Given the description of an element on the screen output the (x, y) to click on. 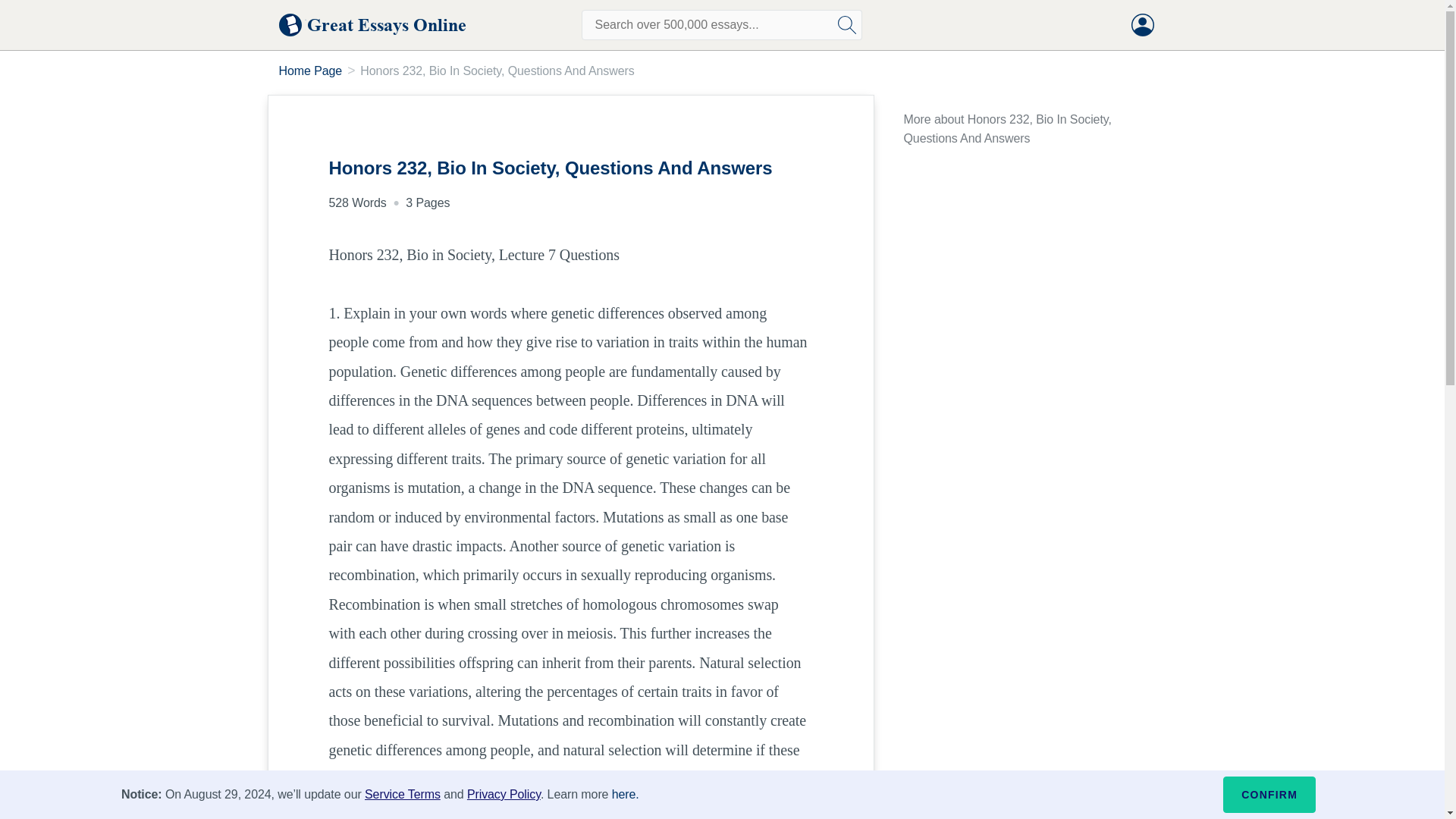
CONFIRM (1269, 794)
here. (625, 793)
Home Page (310, 70)
Privacy Policy (503, 793)
Service Terms (403, 793)
